Given the description of an element on the screen output the (x, y) to click on. 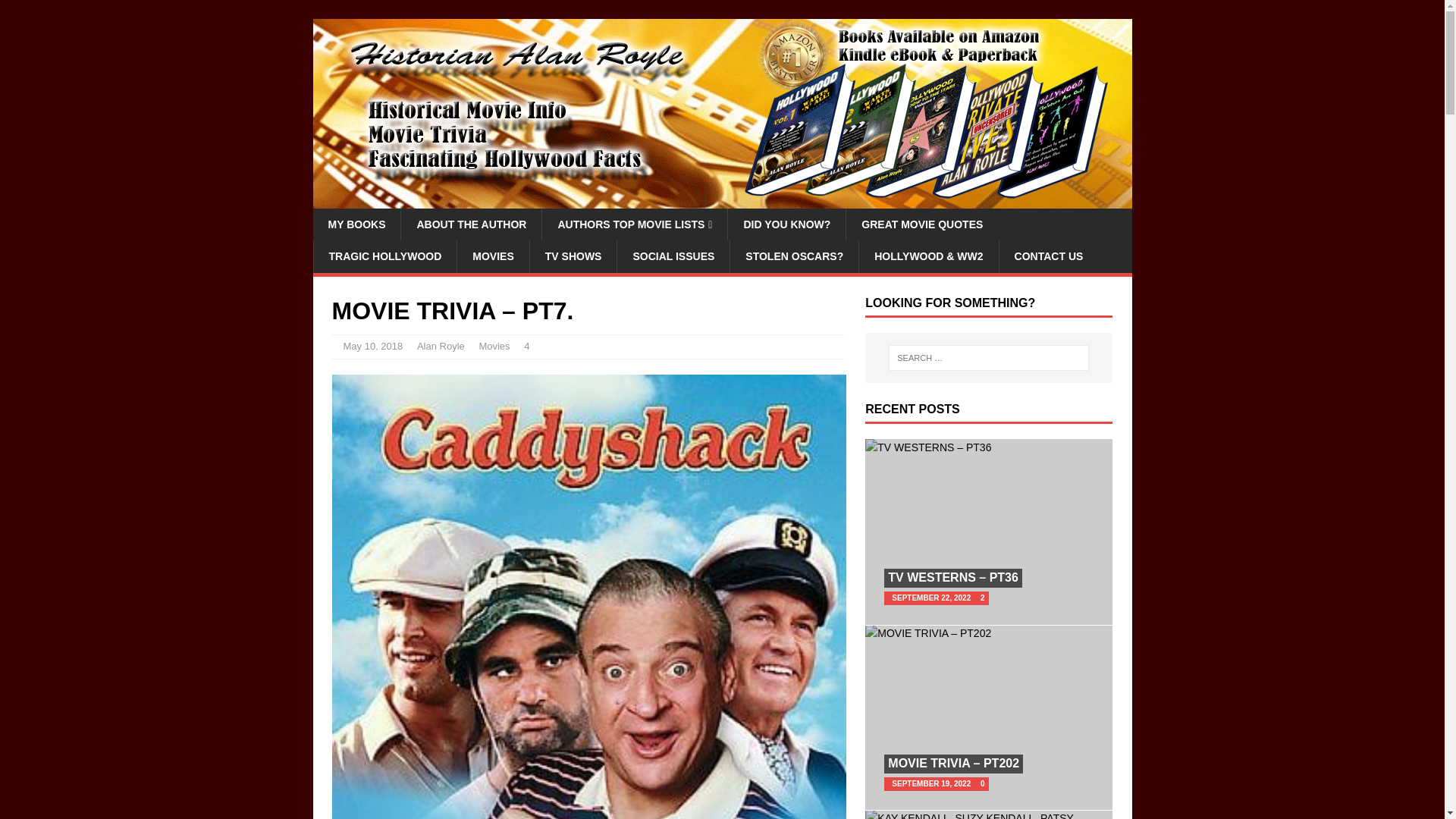
MY BOOKS (356, 224)
Historian Alan Royle (722, 200)
AUTHORS TOP MOVIE LISTS (633, 224)
ABOUT THE AUTHOR (470, 224)
KAY KENDALL, SUZY KENDALL, PATSY KENSIT (988, 814)
4 (526, 346)
